Given the description of an element on the screen output the (x, y) to click on. 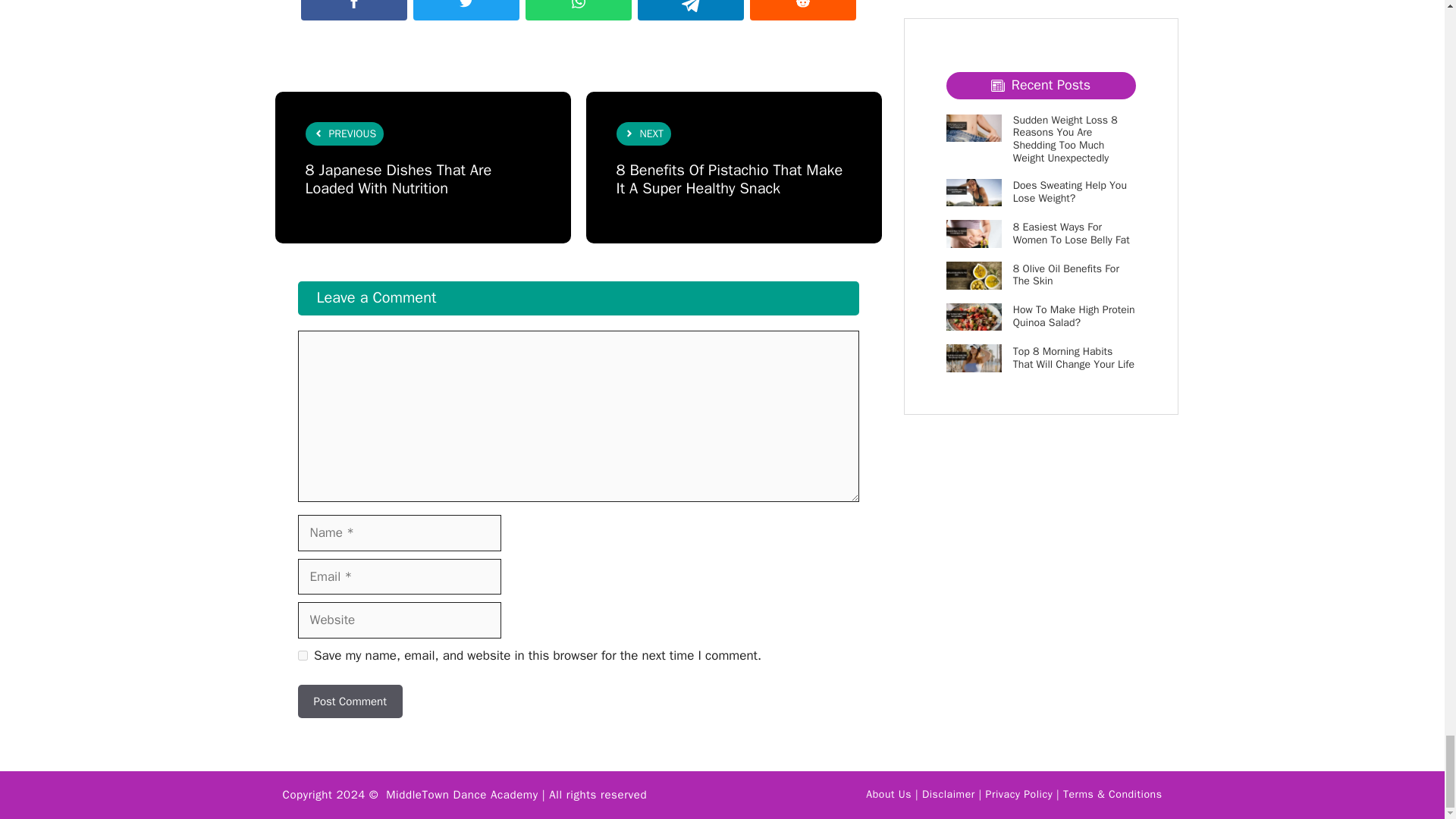
yes (302, 655)
Post Comment (349, 701)
